Given the description of an element on the screen output the (x, y) to click on. 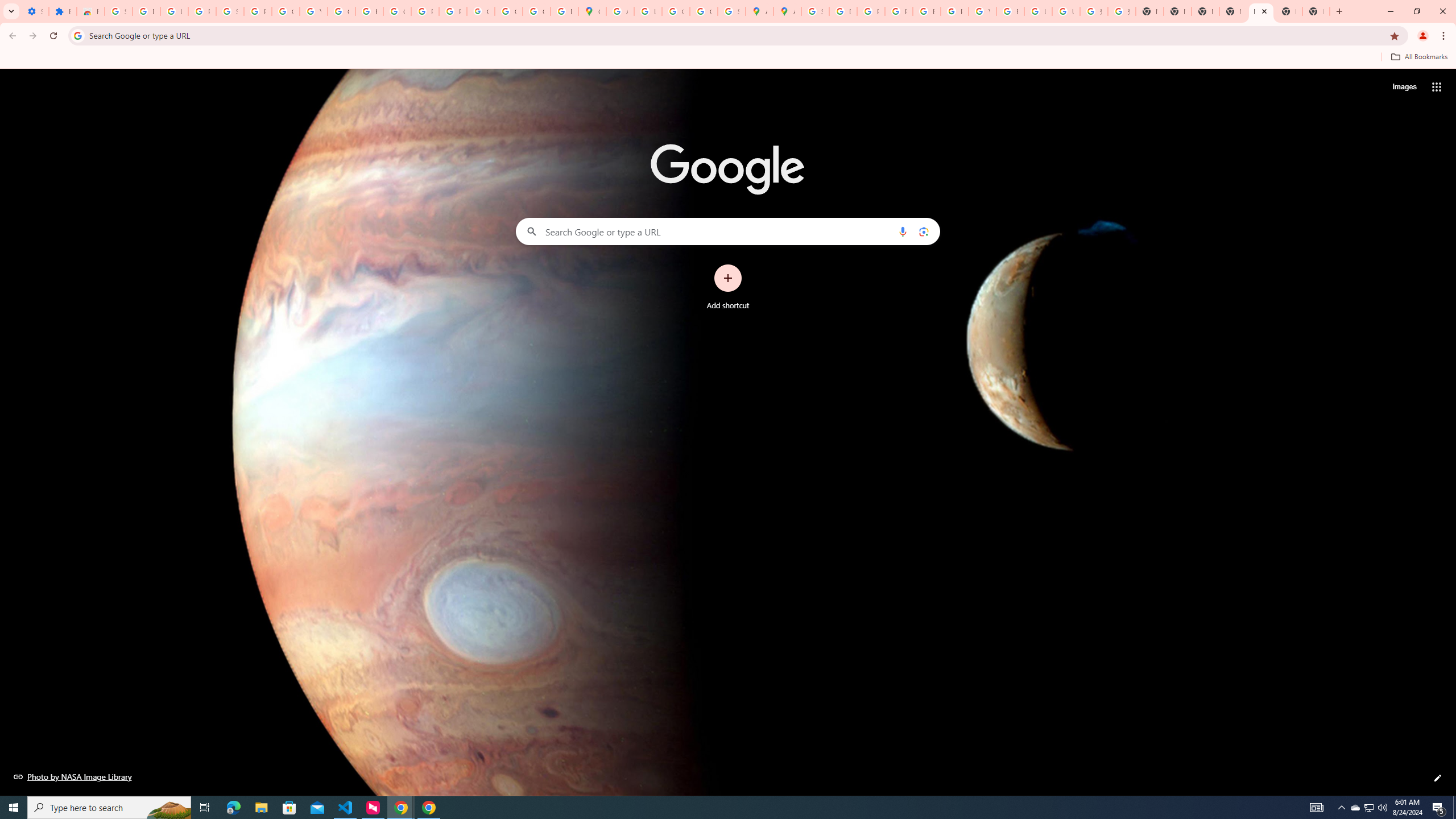
New Tab (1233, 11)
Reviews: Helix Fruit Jump Arcade Game (90, 11)
New Tab (1316, 11)
